Given the description of an element on the screen output the (x, y) to click on. 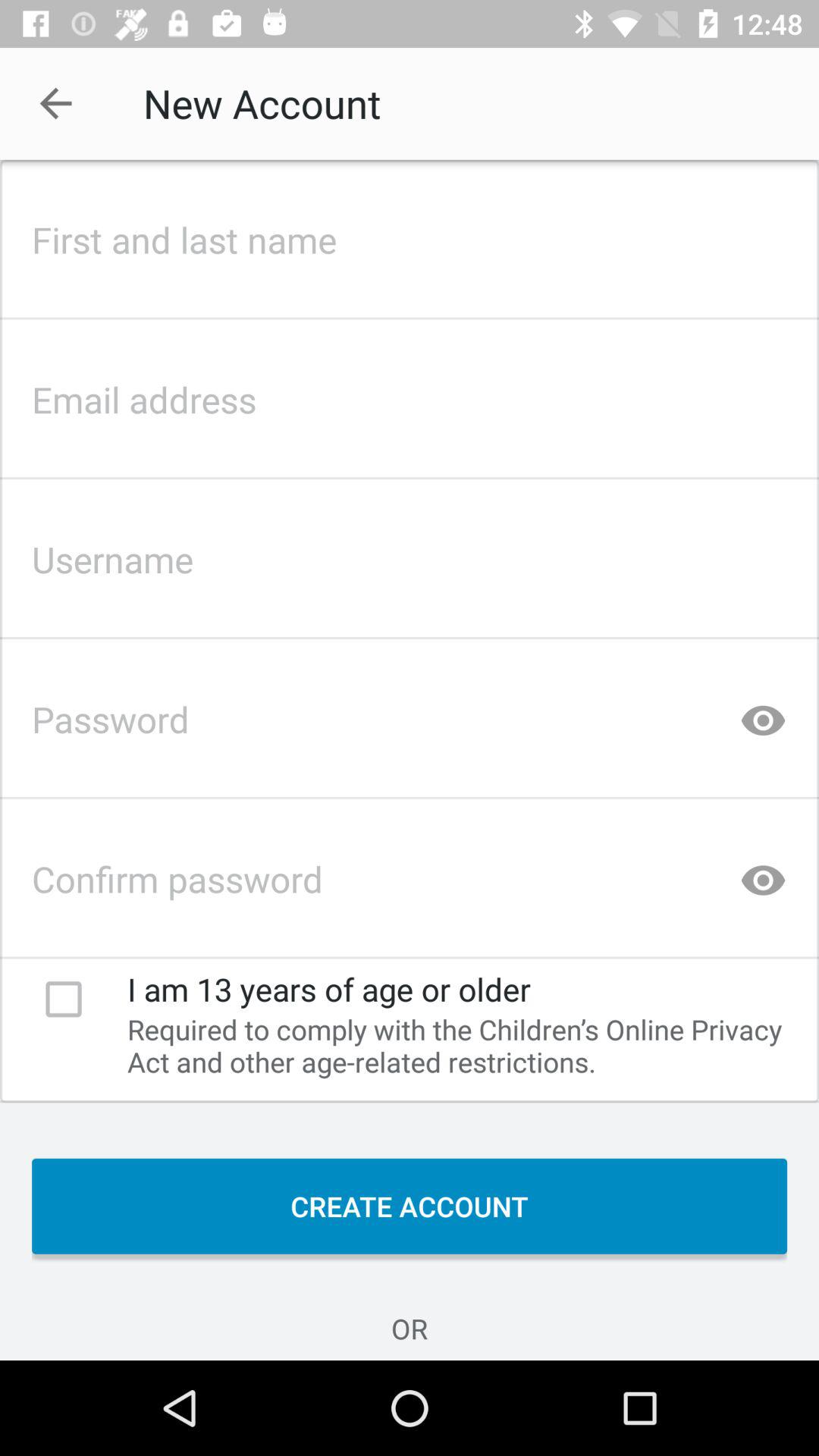
click the check button (63, 999)
